Given the description of an element on the screen output the (x, y) to click on. 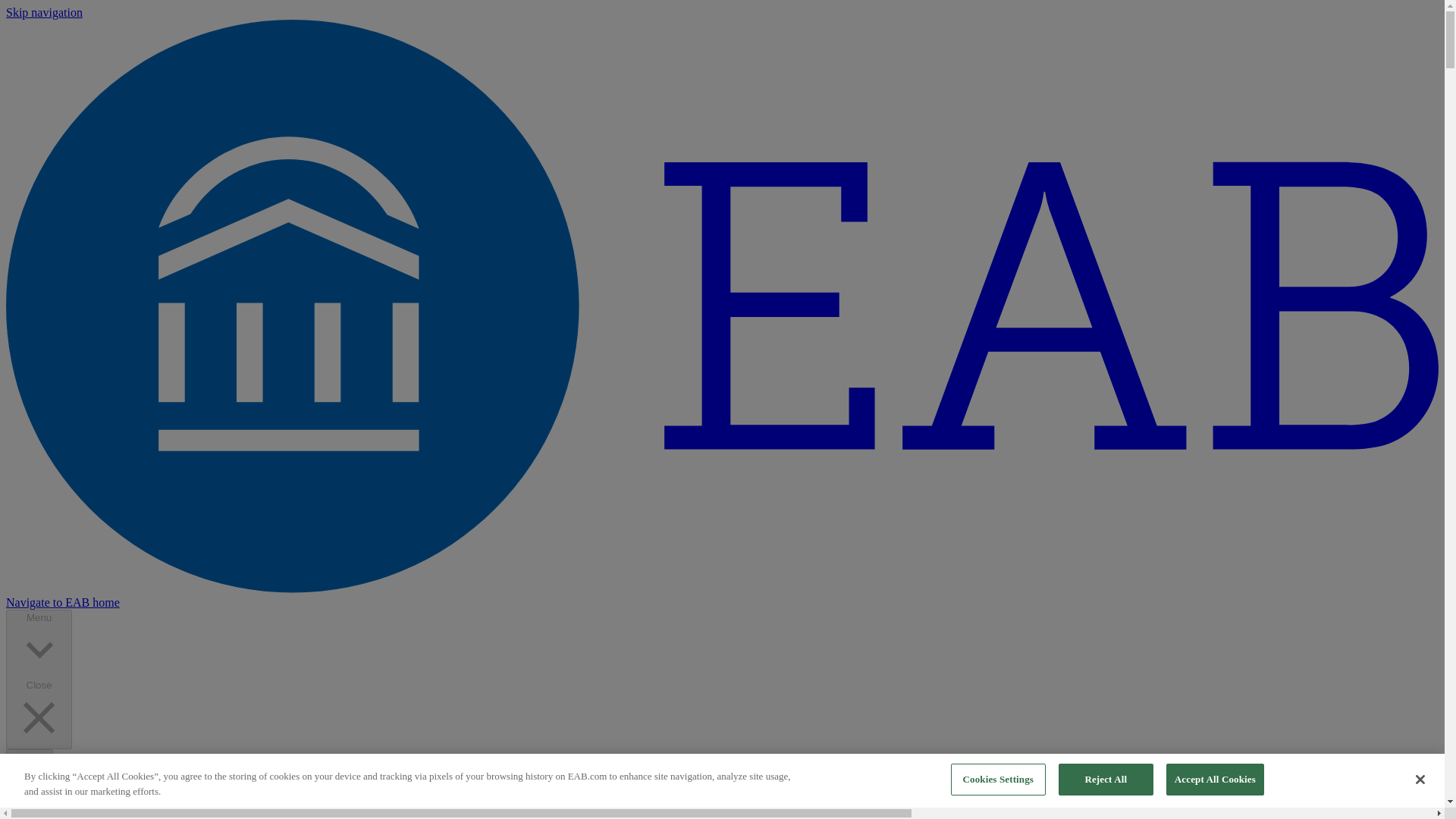
Menu Close (38, 679)
EAB Logo Navigate to the EAB Homepage Navigate to EAB home (721, 595)
Search (219, 810)
Search (28, 775)
Skip navigation (43, 11)
